Given the description of an element on the screen output the (x, y) to click on. 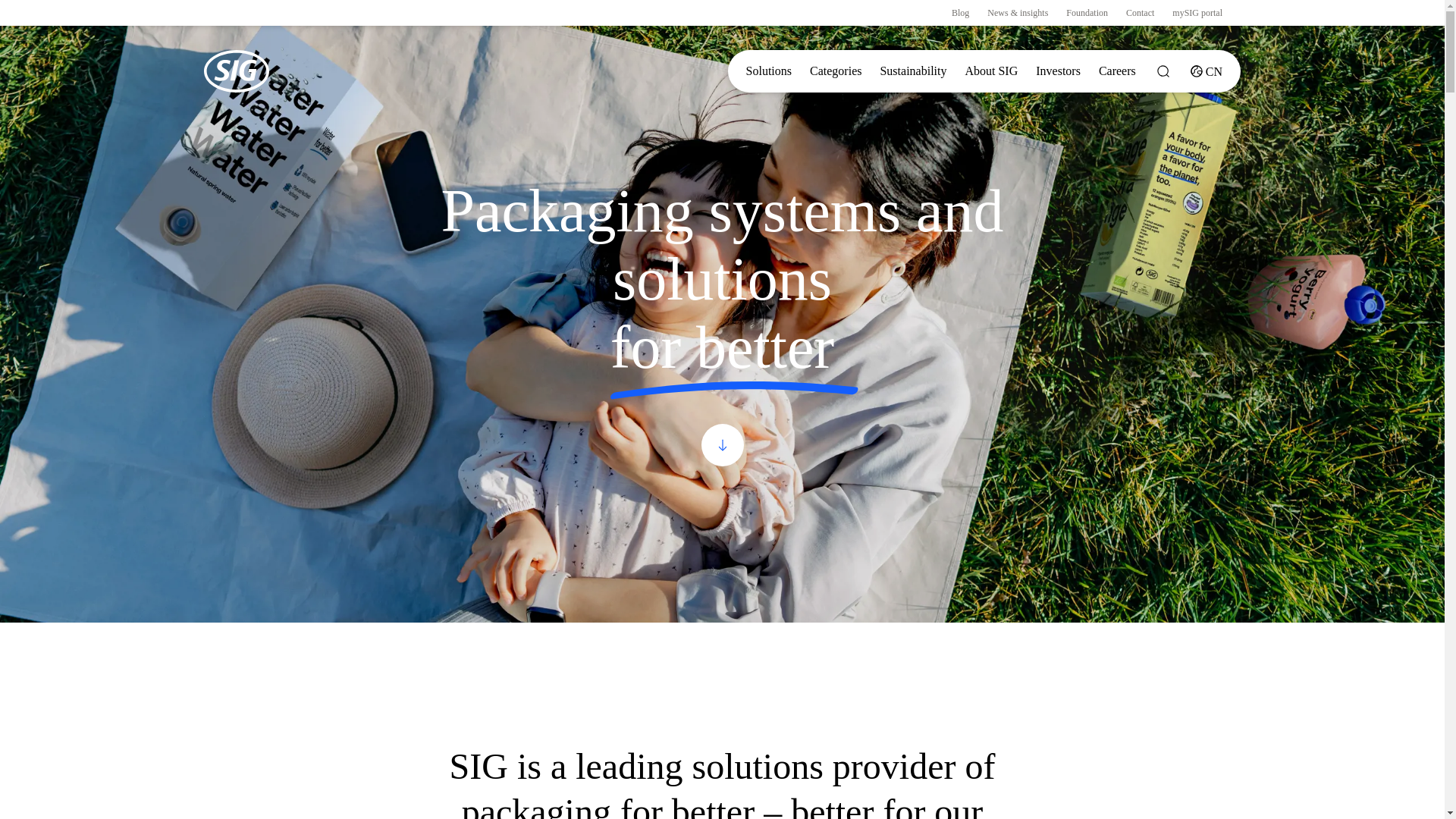
Careers (1116, 71)
Contact (1139, 12)
mySIG portal (1197, 12)
CN (1205, 71)
Solutions (768, 71)
About SIG (990, 71)
Categories (835, 71)
Sustainability (912, 71)
Foundation (1086, 12)
Investors (1057, 71)
